Given the description of an element on the screen output the (x, y) to click on. 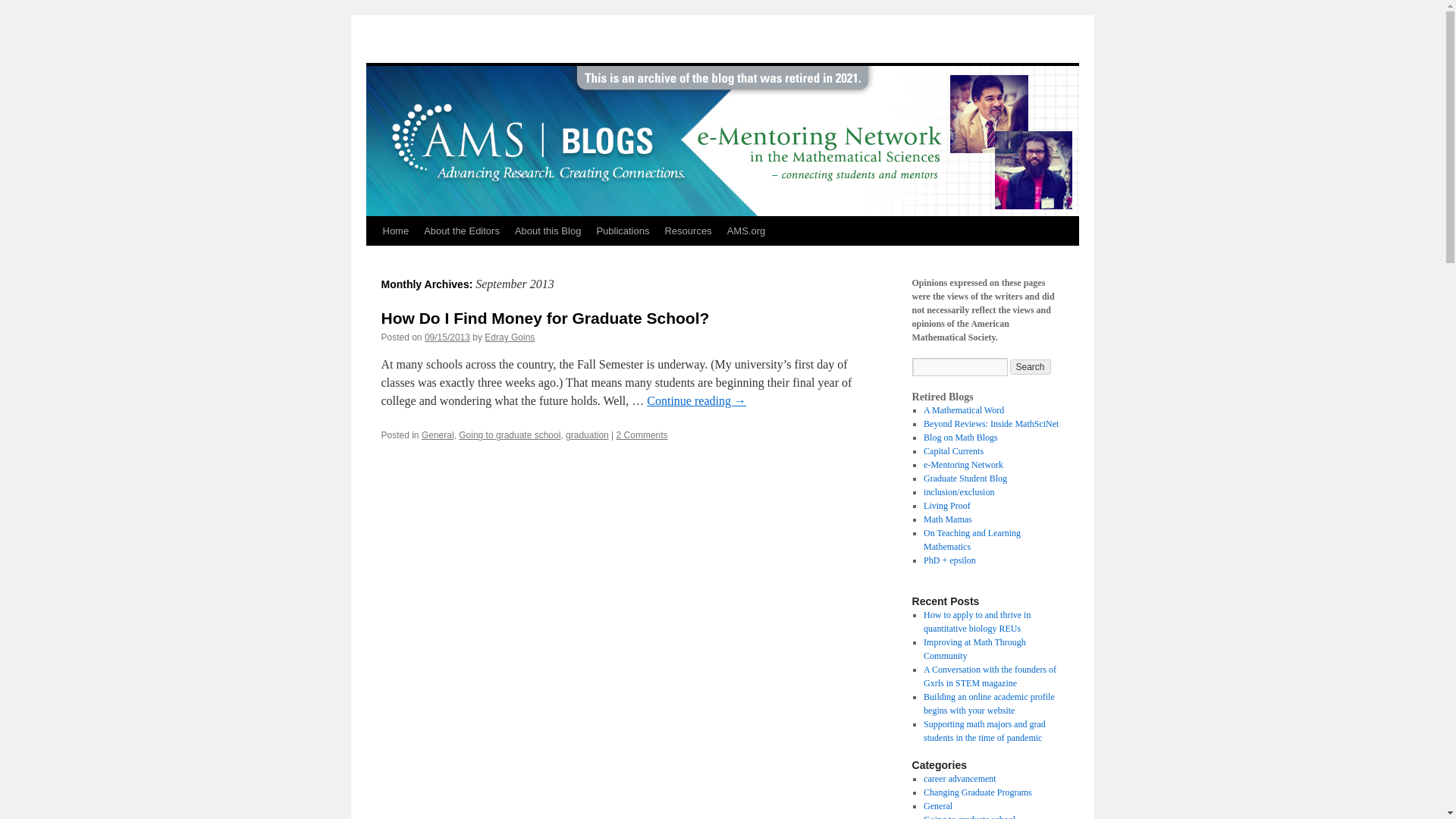
Publications (622, 231)
On Teaching and Learning Mathematics (971, 539)
Beyond Reviews: Inside MathSciNet (990, 423)
Blog on Math Blogs (960, 437)
4:11 pm (447, 337)
View all posts by Edray Goins (509, 337)
Graduate Student Blog (965, 478)
Changing Graduate Programs (977, 792)
Beyond Reviews: Inside MathSciNet (990, 423)
Math Mamas (947, 519)
Search (1030, 366)
General (438, 434)
On Teaching and Learning Mathematics (971, 539)
Resources (687, 231)
Search (1030, 366)
